Given the description of an element on the screen output the (x, y) to click on. 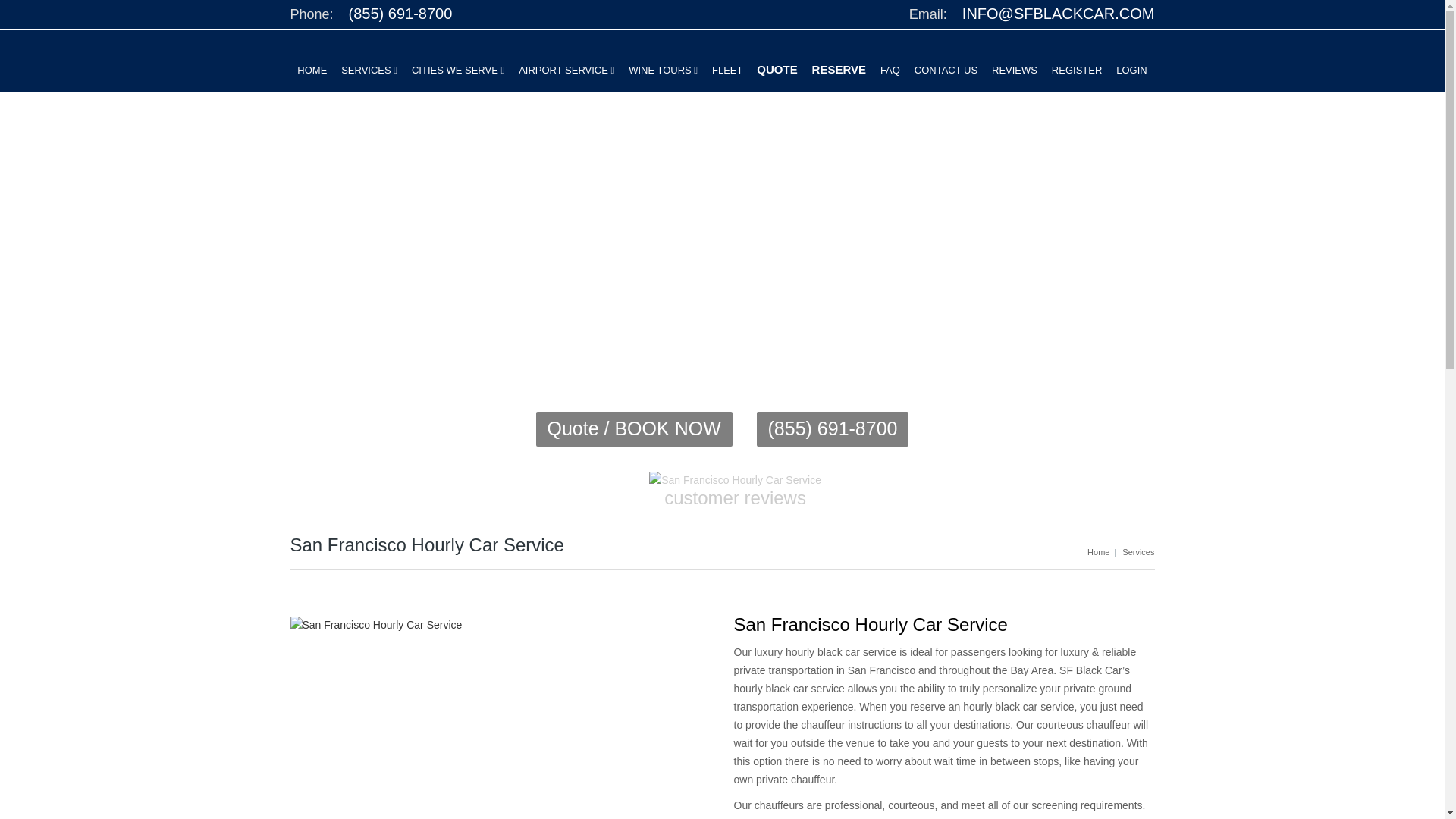
FLEET (726, 70)
REVIEWS (1013, 70)
customer reviews (735, 489)
SERVICES  (368, 70)
LOGIN (1131, 70)
WINE TOURS  (662, 70)
CITIES WE SERVE  (457, 70)
FAQ (889, 70)
CONTACT US (945, 70)
Home (1098, 551)
HOME (311, 70)
AIRPORT SERVICE  (566, 70)
RESERVE (839, 69)
QUOTE (776, 69)
REGISTER (1076, 70)
